Given the description of an element on the screen output the (x, y) to click on. 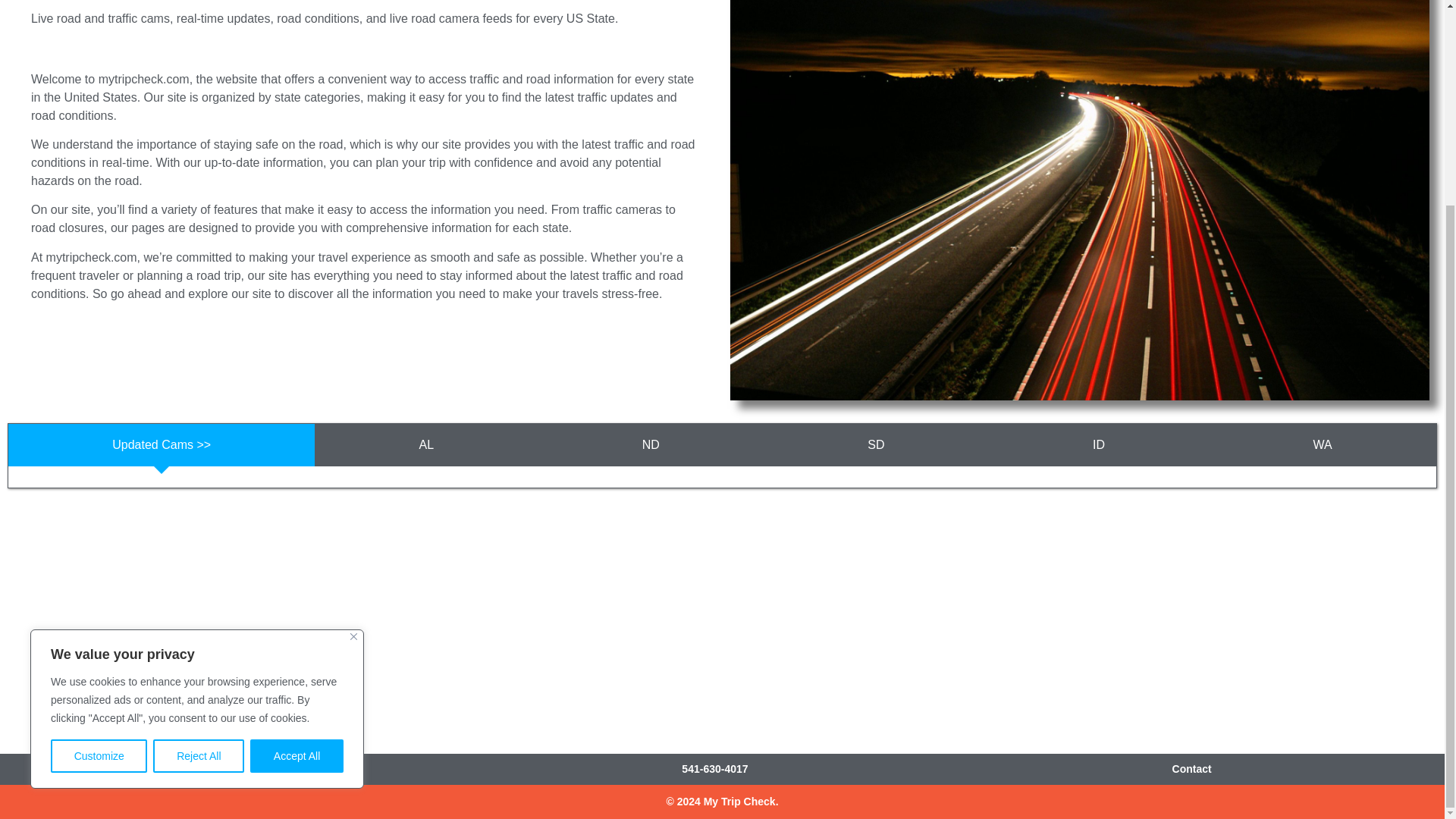
Accept All (296, 491)
Customize (98, 491)
Reject All (198, 491)
